Given the description of an element on the screen output the (x, y) to click on. 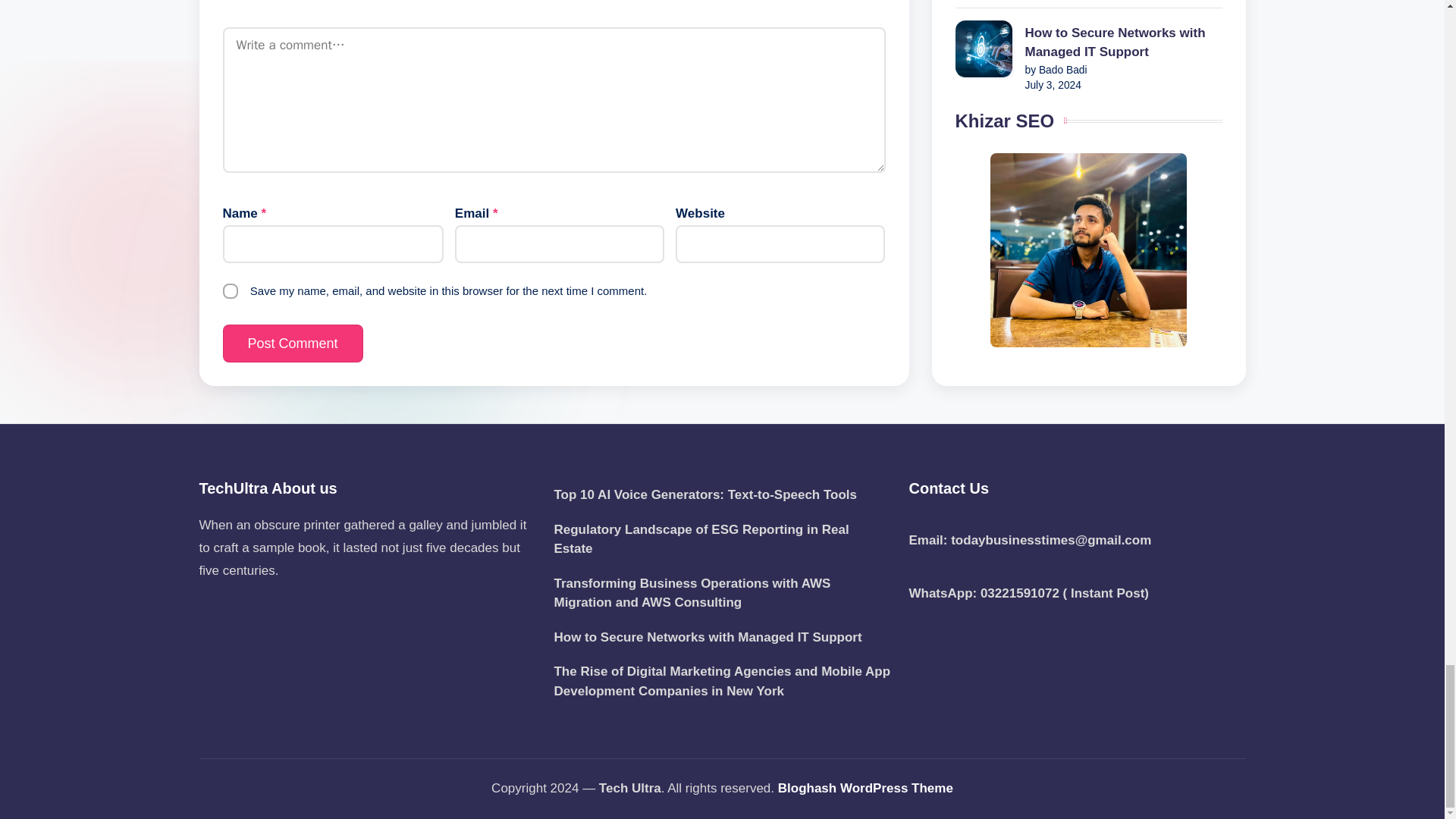
Regulatory Landscape of ESG Reporting in Real Estate (721, 539)
yes (230, 290)
Top 10 AI Voice Generators: Text-to-Speech Tools (721, 495)
How to Secure Networks with Managed IT Support (721, 637)
Post Comment (292, 343)
Post Comment (292, 343)
